Given the description of an element on the screen output the (x, y) to click on. 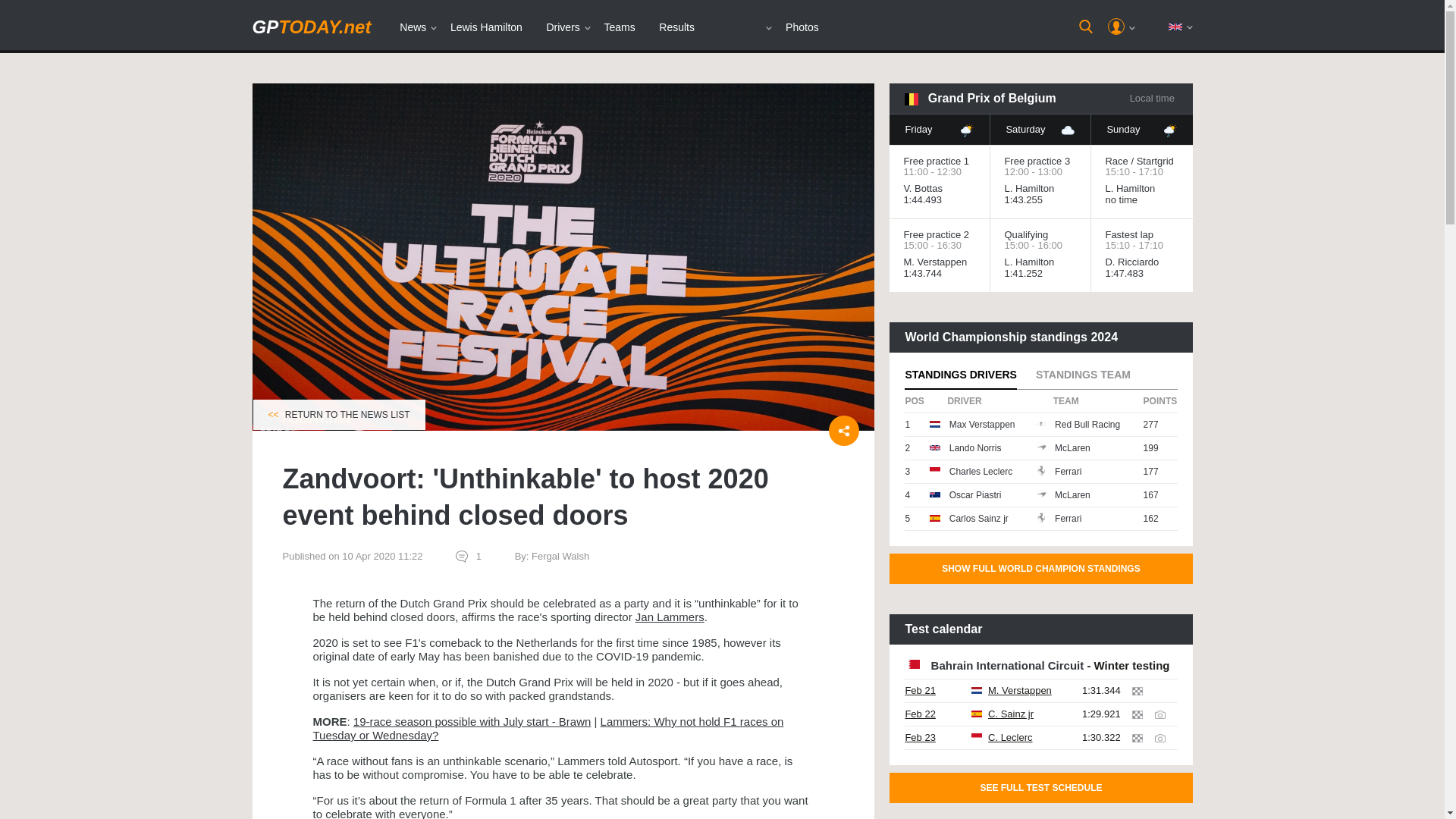
Lewis Hamilton (485, 26)
Calendar (740, 26)
Teams (618, 26)
Photos (801, 26)
Results (675, 26)
GPTODAY.net (311, 26)
Drivers (562, 26)
News (412, 26)
